Given the description of an element on the screen output the (x, y) to click on. 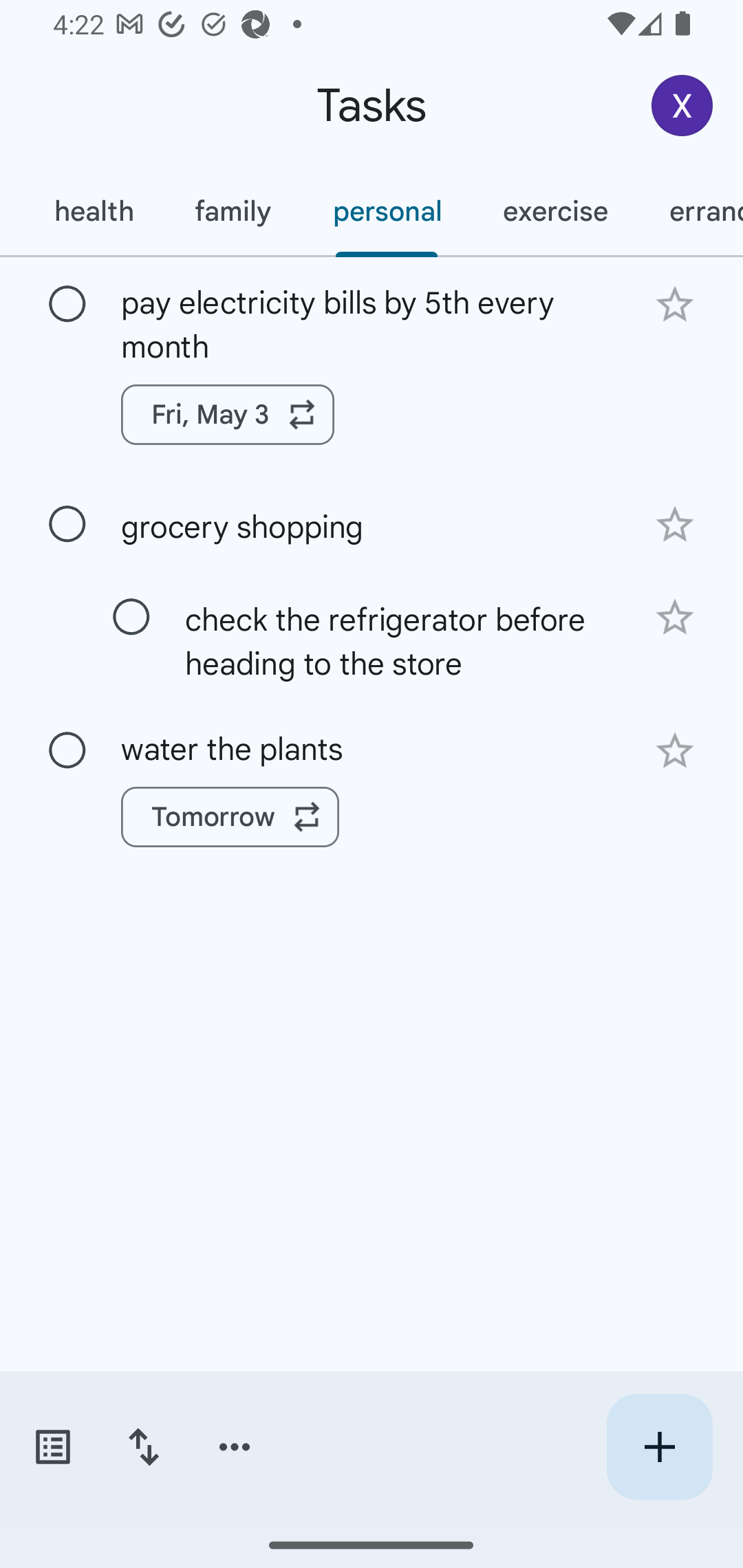
health (93, 211)
family (232, 211)
exercise (554, 211)
errands (690, 211)
Add star (674, 303)
Mark as complete (67, 304)
Fri, May 3 (227, 414)
Add star (674, 524)
Mark as complete (67, 524)
Add star (674, 617)
Mark as complete (131, 616)
Add star (674, 750)
Mark as complete (67, 750)
Tomorrow (229, 816)
Switch task lists (52, 1447)
Create new task (659, 1446)
Change sort order (143, 1446)
More options (234, 1446)
